Given the description of an element on the screen output the (x, y) to click on. 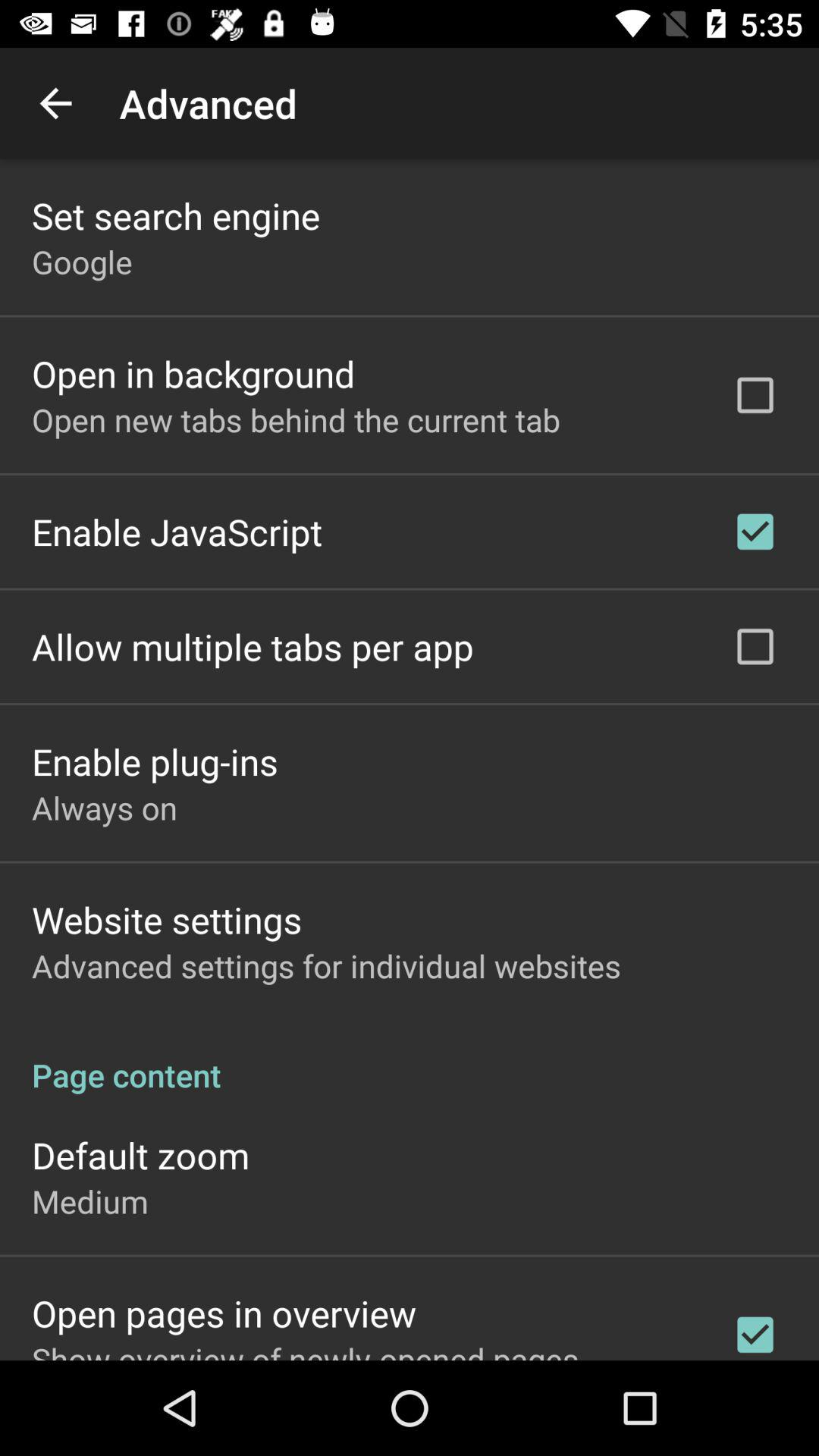
launch the app above medium app (140, 1154)
